Given the description of an element on the screen output the (x, y) to click on. 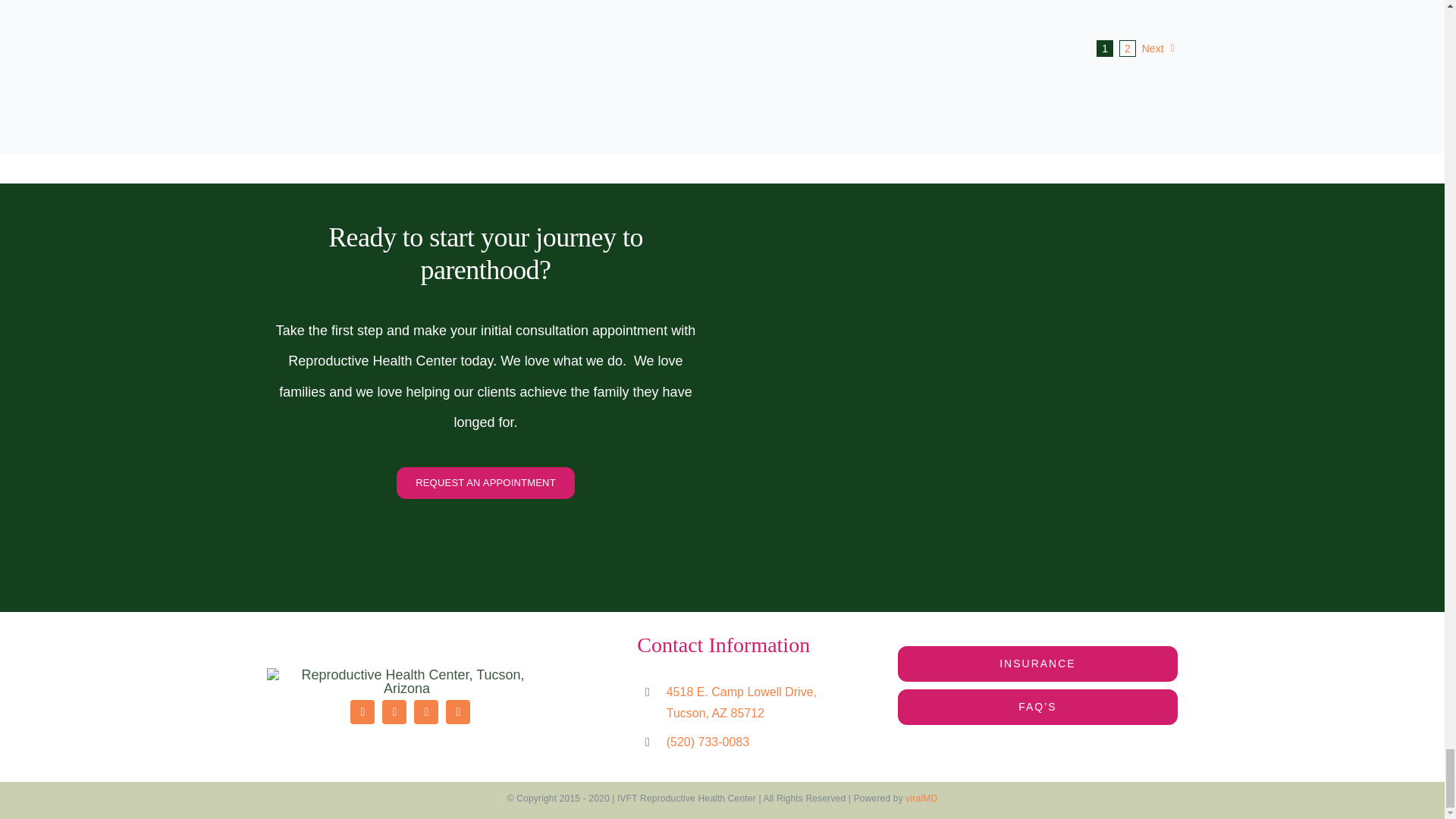
reproductive-health-center-tucson-arizona-logo-dark-2023 (406, 681)
Instagram (393, 711)
Pinterest (457, 711)
Facebook (362, 711)
YouTube (425, 711)
